Given the description of an element on the screen output the (x, y) to click on. 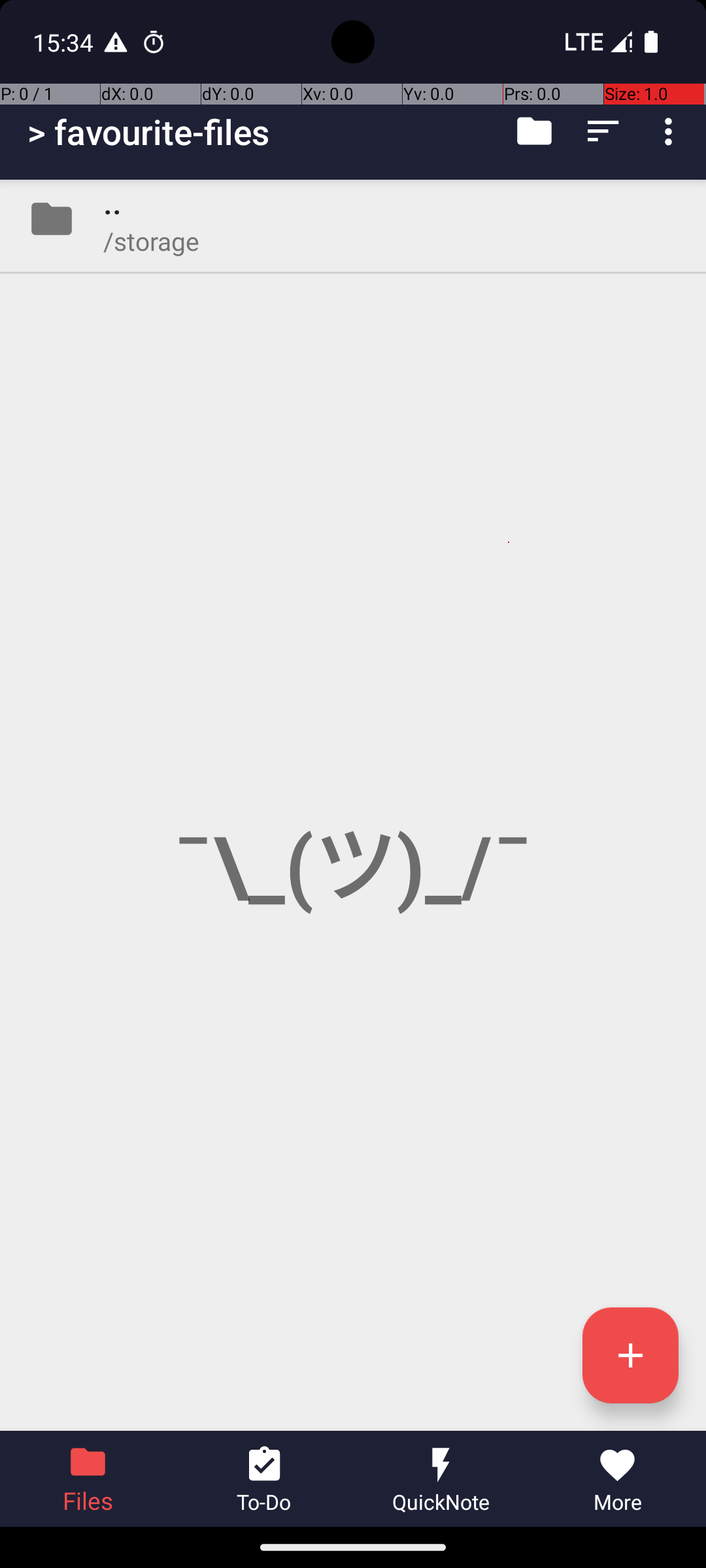
> favourite-files Element type: android.widget.TextView (148, 131)
Folder .. /storage/emulated/0/Documents Element type: android.widget.LinearLayout (353, 218)
